Given the description of an element on the screen output the (x, y) to click on. 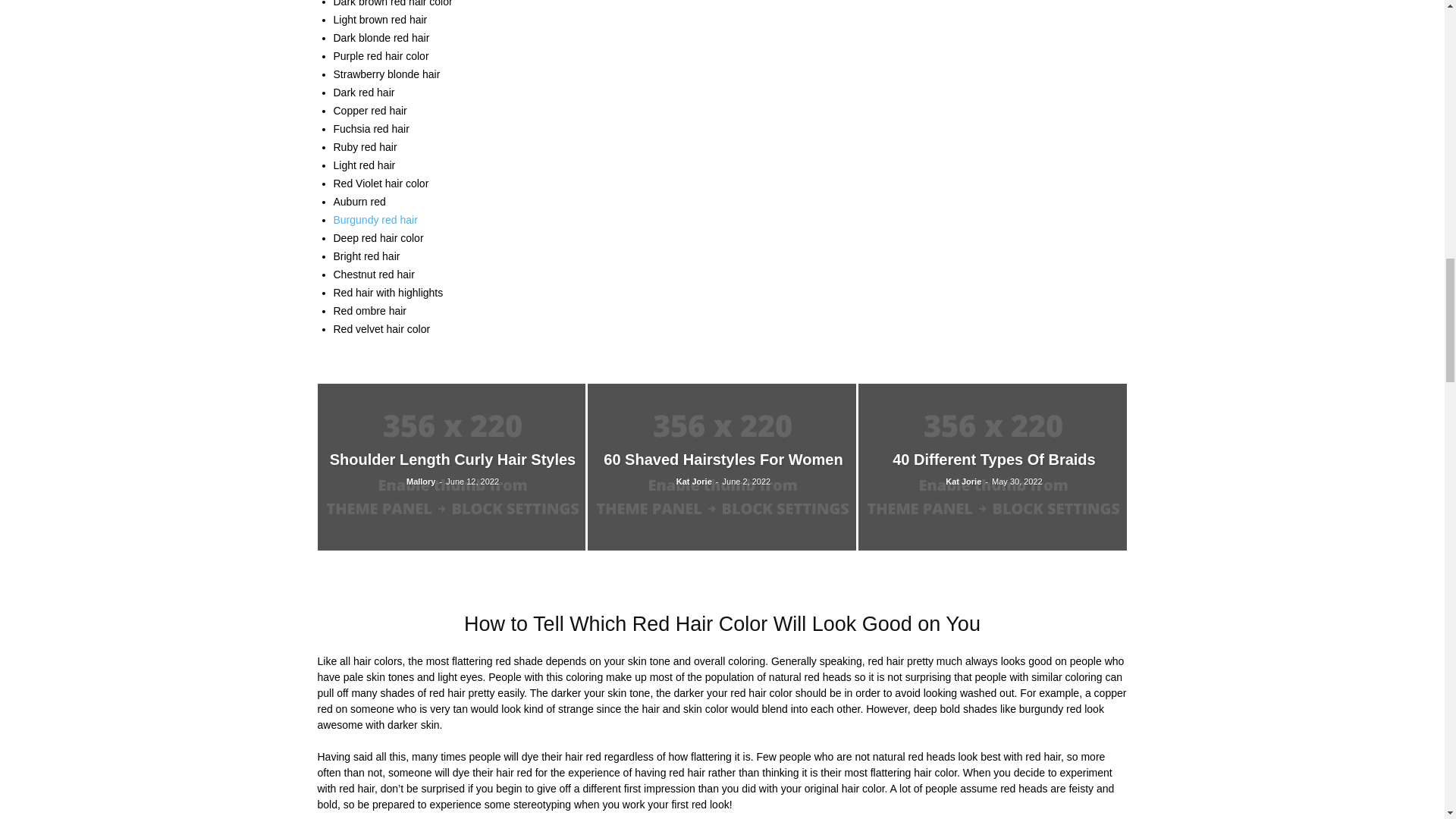
Shoulder Length Curly Hair Styles (453, 459)
60 Shaved Hairstyles For Women (722, 467)
60 Shaved Hairstyles For Women (723, 459)
40 Different Types Of Braids (992, 467)
Shoulder Length Curly Hair Styles (451, 467)
40 Different Types Of Braids (993, 459)
Burgundy red hair (375, 219)
